Given the description of an element on the screen output the (x, y) to click on. 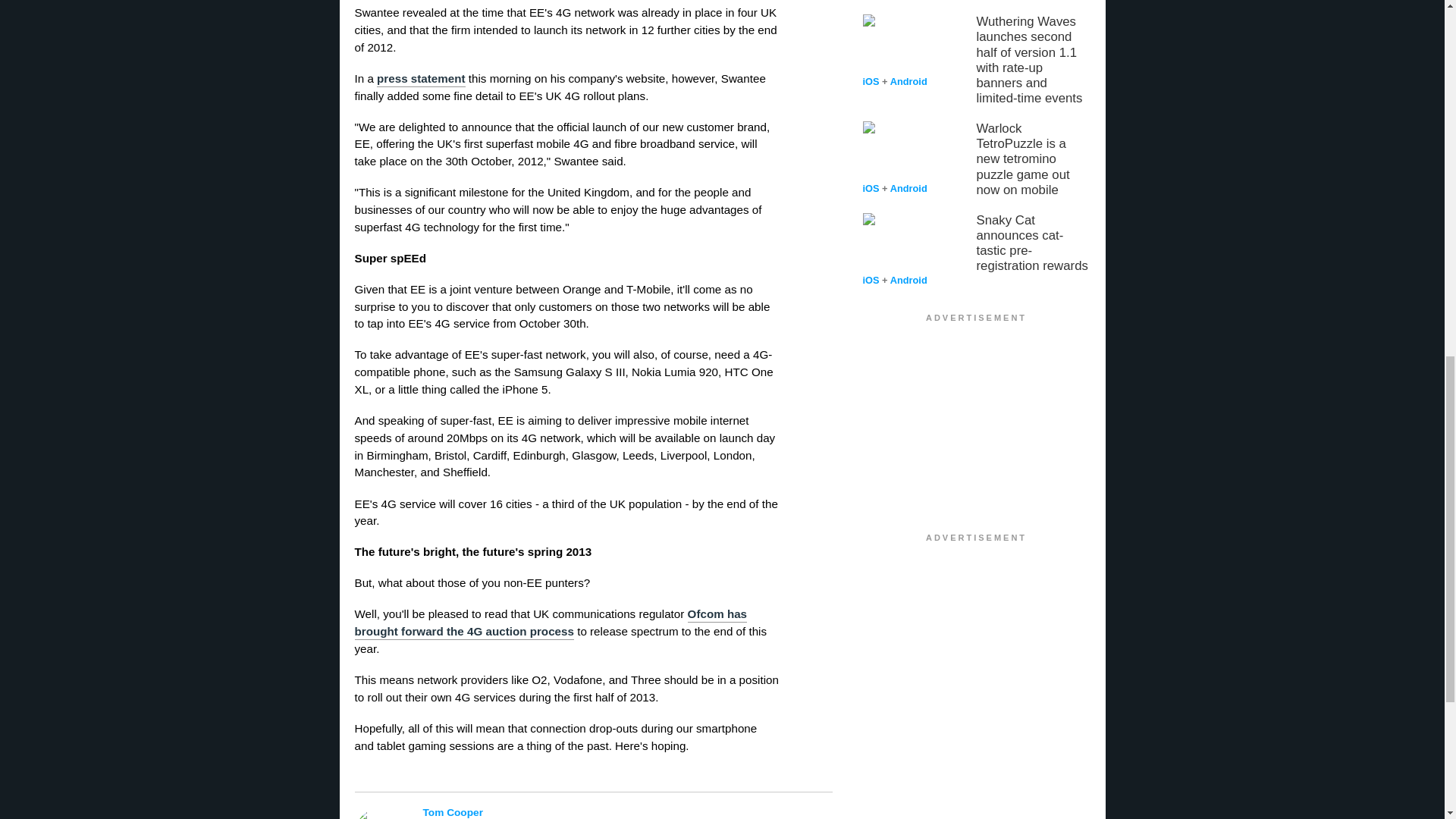
press statement (421, 79)
Ofcom has brought forward the 4G auction process (551, 623)
Tom Cooper (600, 812)
